Given the description of an element on the screen output the (x, y) to click on. 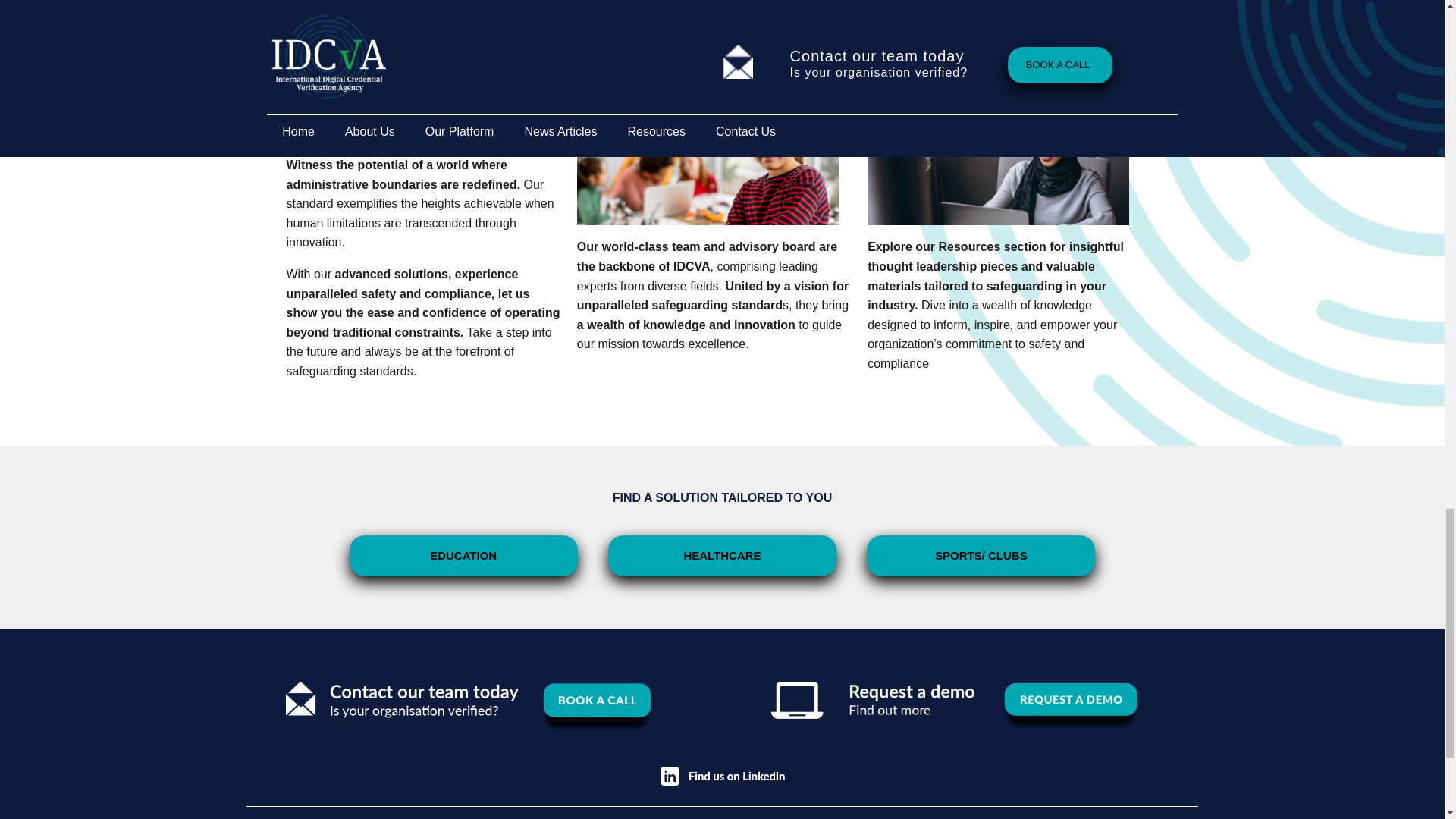
Contact Us (724, 812)
Our Platform (439, 812)
Home (277, 812)
About Us (349, 812)
News Articles (539, 812)
Resources (635, 812)
EDUCATION (462, 555)
HEALTHCARE (721, 555)
